Given the description of an element on the screen output the (x, y) to click on. 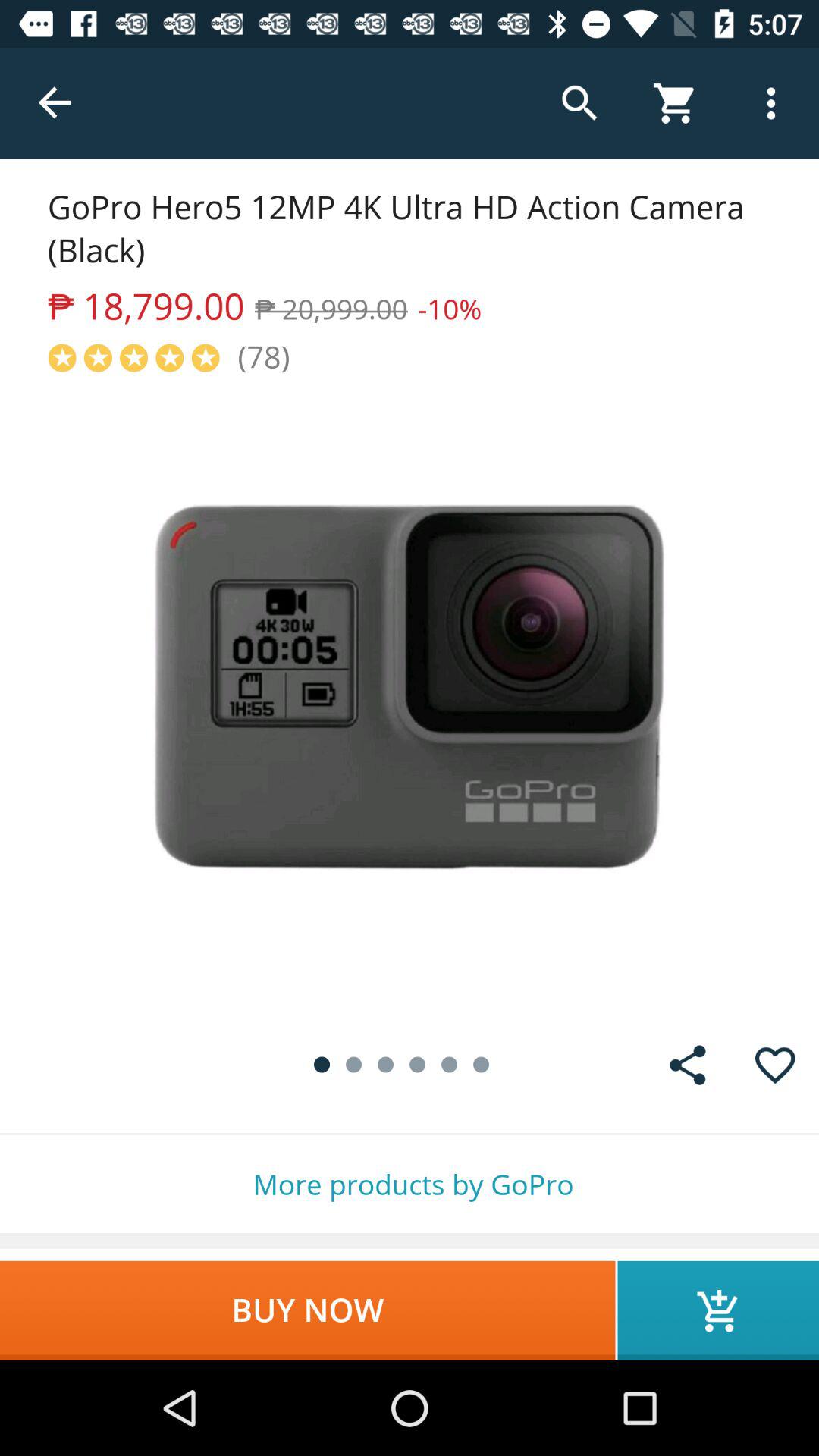
tap the item below more products by (307, 1310)
